Given the description of an element on the screen output the (x, y) to click on. 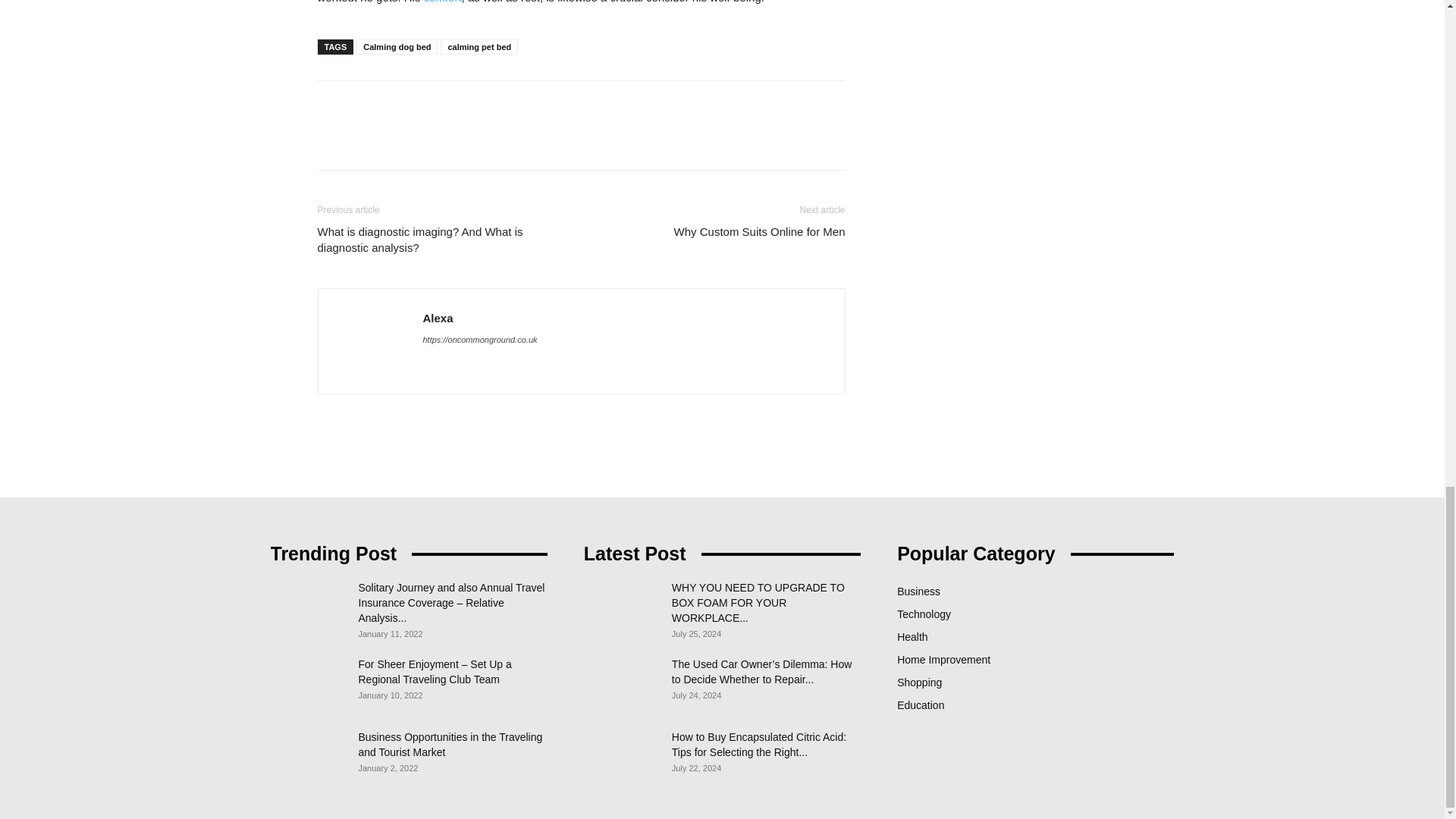
bottomFacebookLike (430, 105)
